Given the description of an element on the screen output the (x, y) to click on. 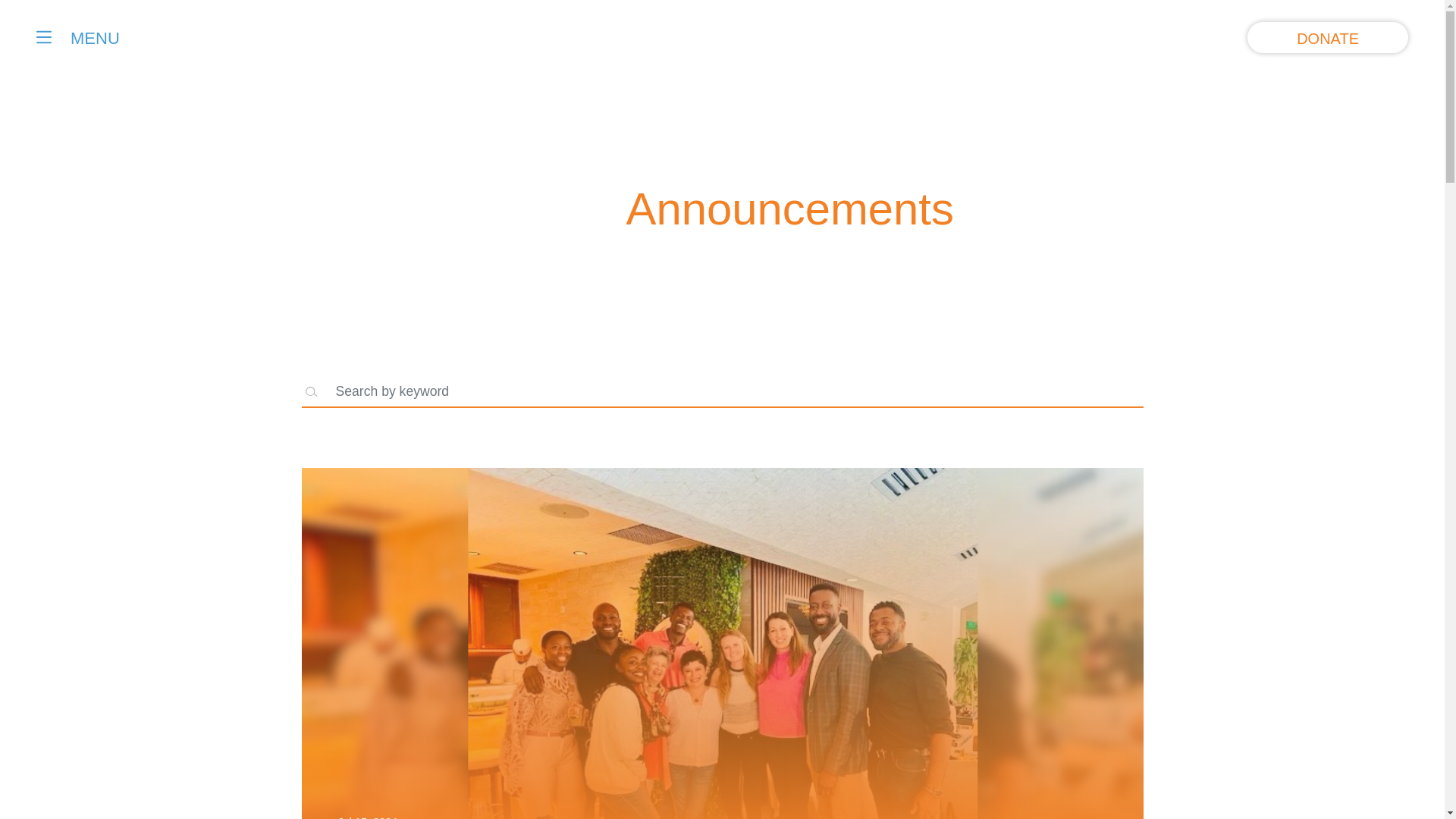
DONATE (1327, 37)
MENU (77, 37)
